Given the description of an element on the screen output the (x, y) to click on. 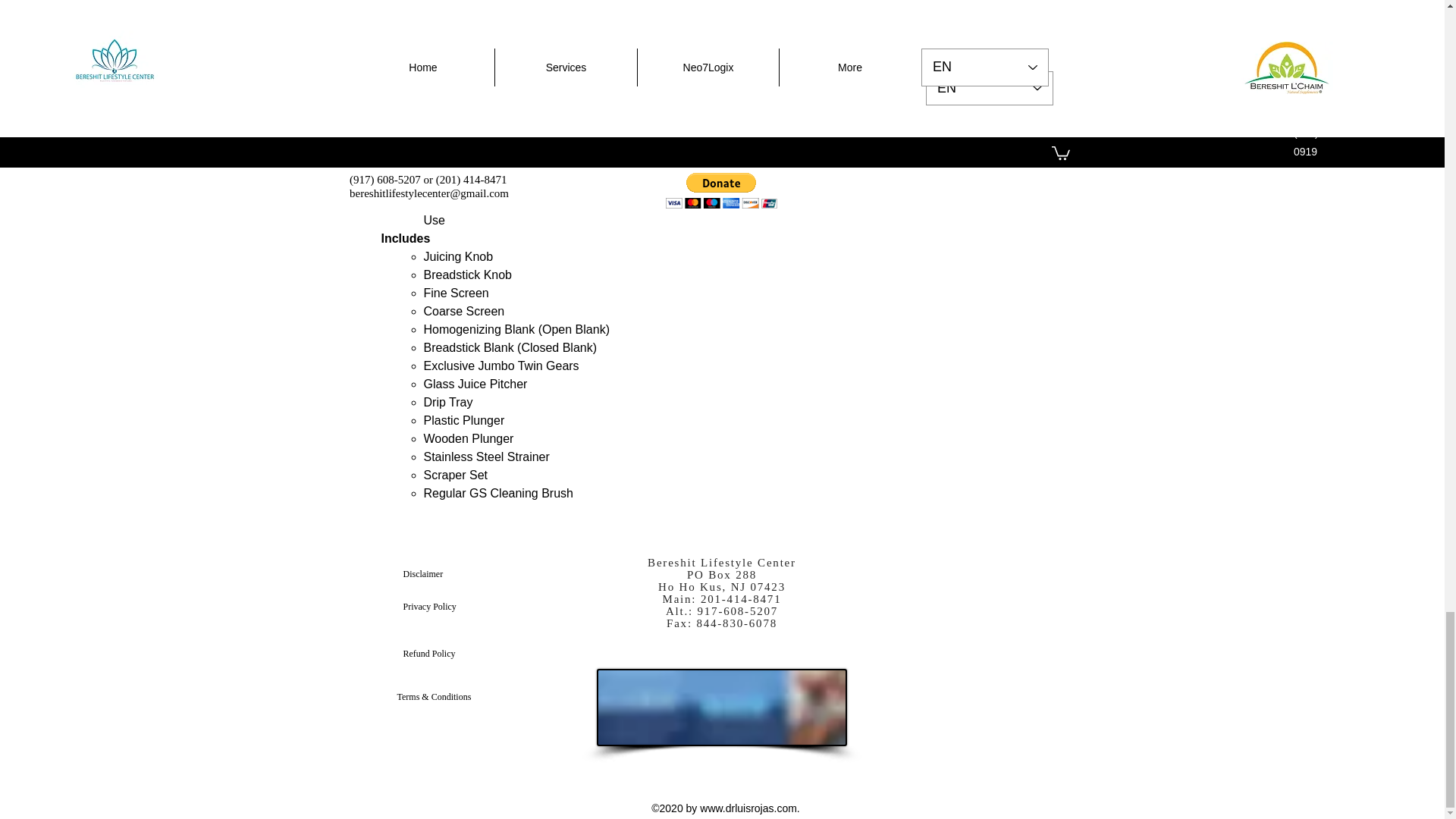
Refund Policy (457, 653)
Privacy Policy (457, 606)
Disclaimer (457, 573)
